Given the description of an element on the screen output the (x, y) to click on. 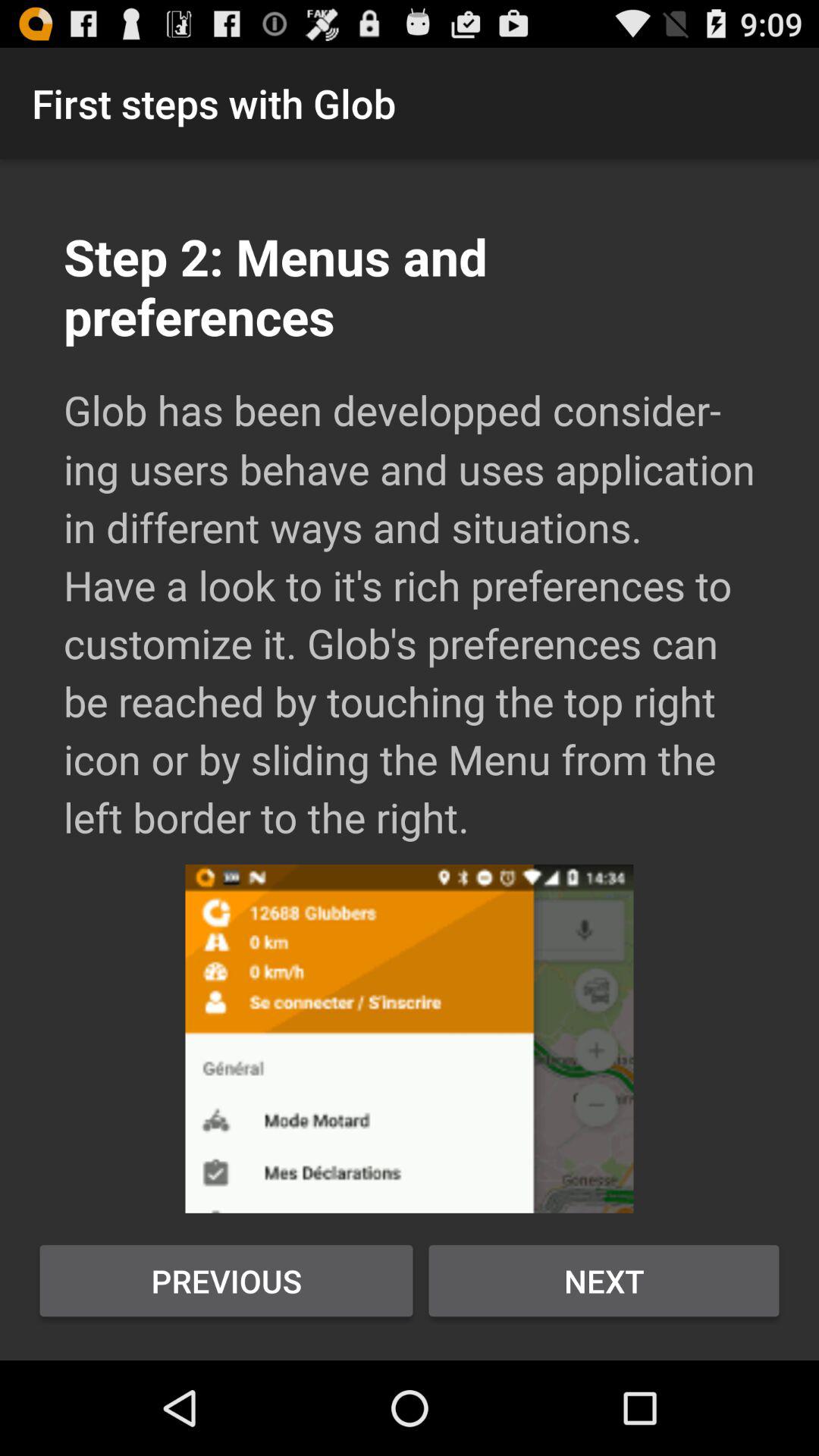
swipe until previous icon (225, 1280)
